Given the description of an element on the screen output the (x, y) to click on. 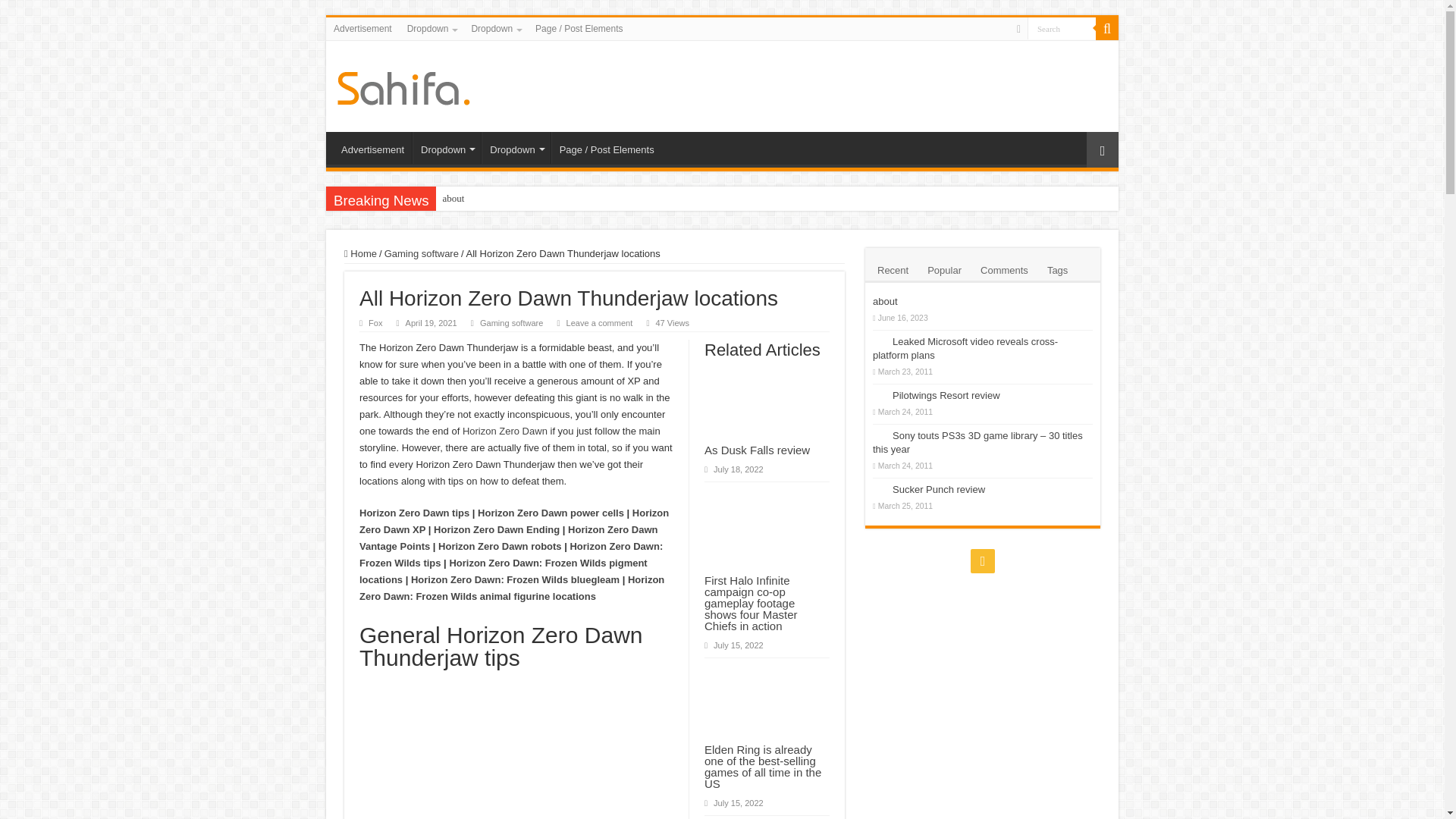
Dropdown (431, 28)
Rss (1018, 29)
Advertisement (362, 28)
Dropdown (495, 28)
Search (1061, 28)
Search (1061, 28)
about (622, 198)
Dropdown (446, 147)
Advertisement (372, 147)
Random Article (1102, 149)
Search (1061, 28)
Game News (403, 85)
Search (1107, 28)
about (622, 198)
